Given the description of an element on the screen output the (x, y) to click on. 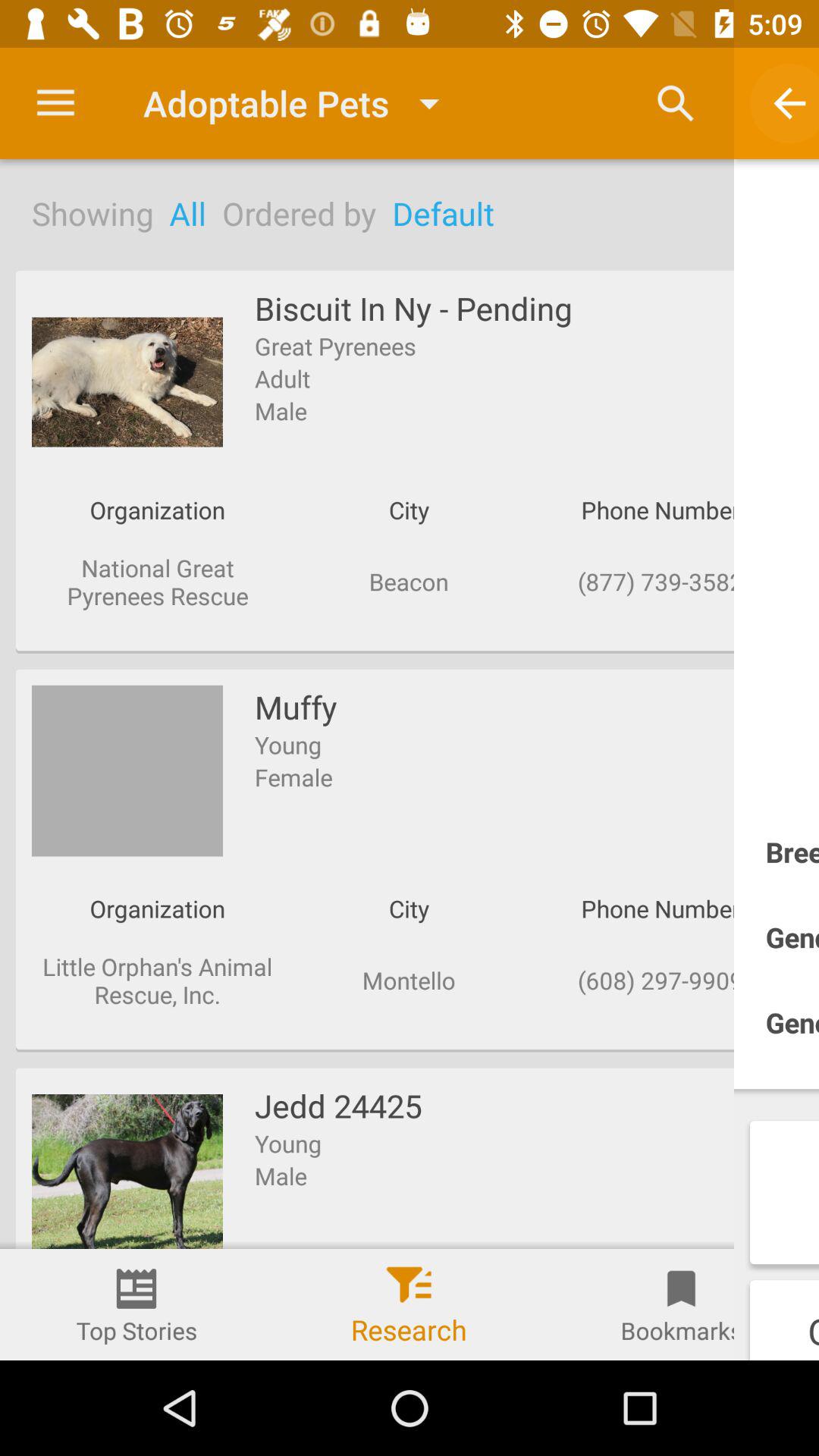
open menu (55, 103)
